Given the description of an element on the screen output the (x, y) to click on. 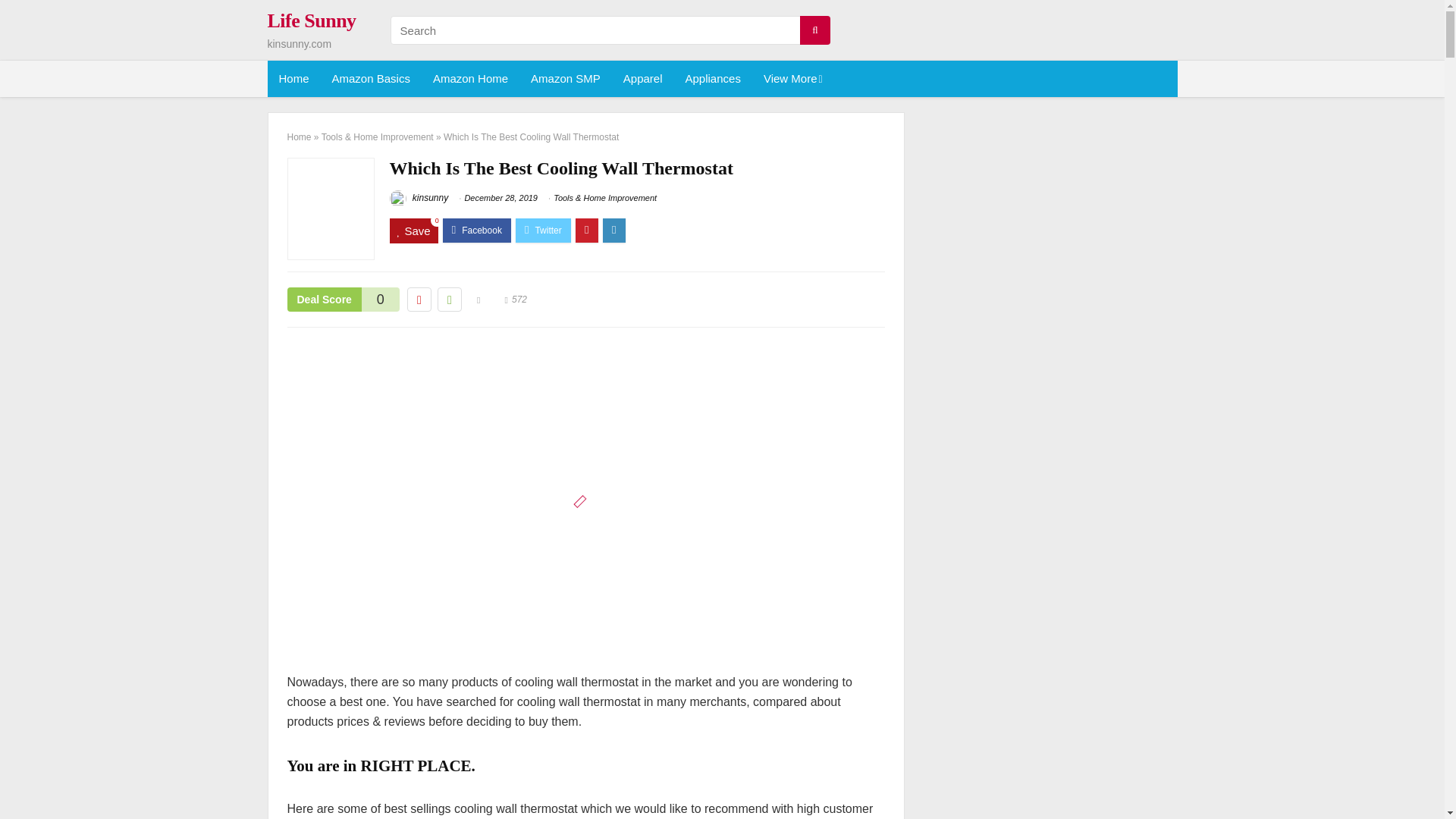
Amazon Basics (371, 78)
View More (791, 78)
Amazon SMP (565, 78)
Appliances (713, 78)
Apparel (642, 78)
Amazon Home (470, 78)
Home (293, 78)
Vote down (418, 299)
